Given the description of an element on the screen output the (x, y) to click on. 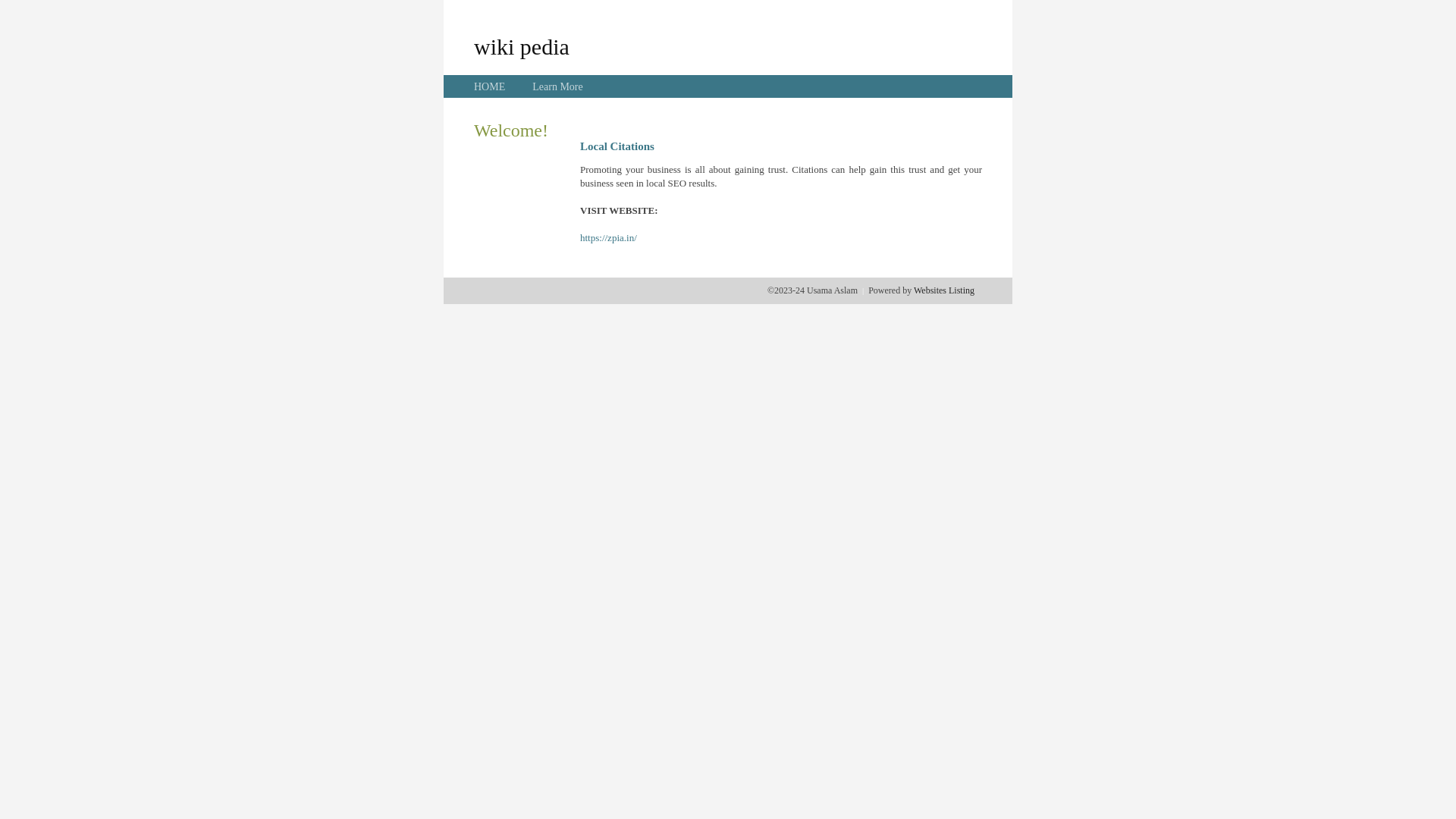
Websites Listing Element type: text (943, 290)
HOME Element type: text (489, 86)
Learn More Element type: text (557, 86)
https://zpia.in/ Element type: text (608, 237)
wiki pedia Element type: text (521, 46)
